Given the description of an element on the screen output the (x, y) to click on. 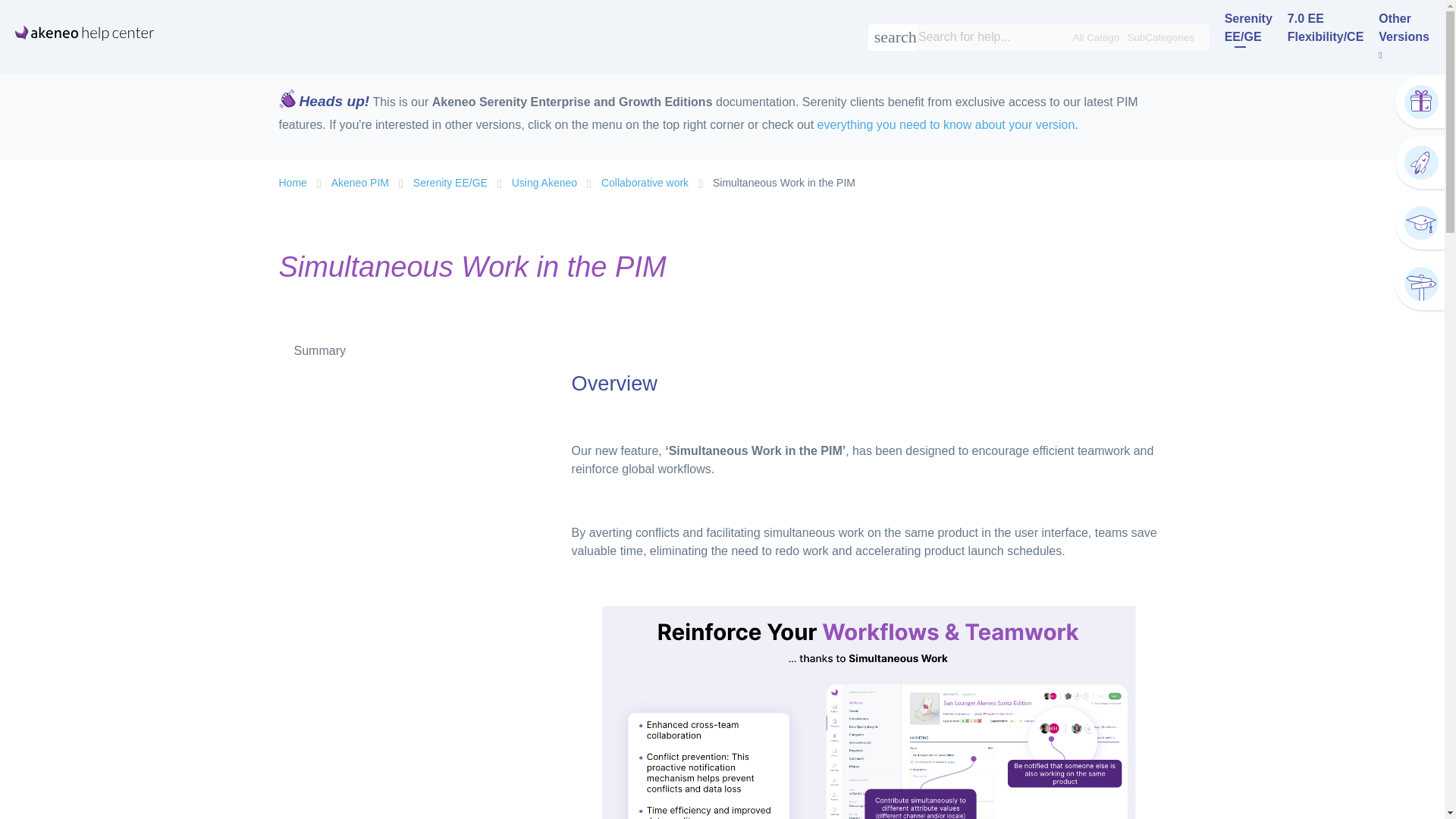
everything you need to know about your version (945, 124)
Collaborative work (644, 184)
Using Akeneo (544, 184)
Akeneo PIM (359, 184)
Home (298, 184)
